Given the description of an element on the screen output the (x, y) to click on. 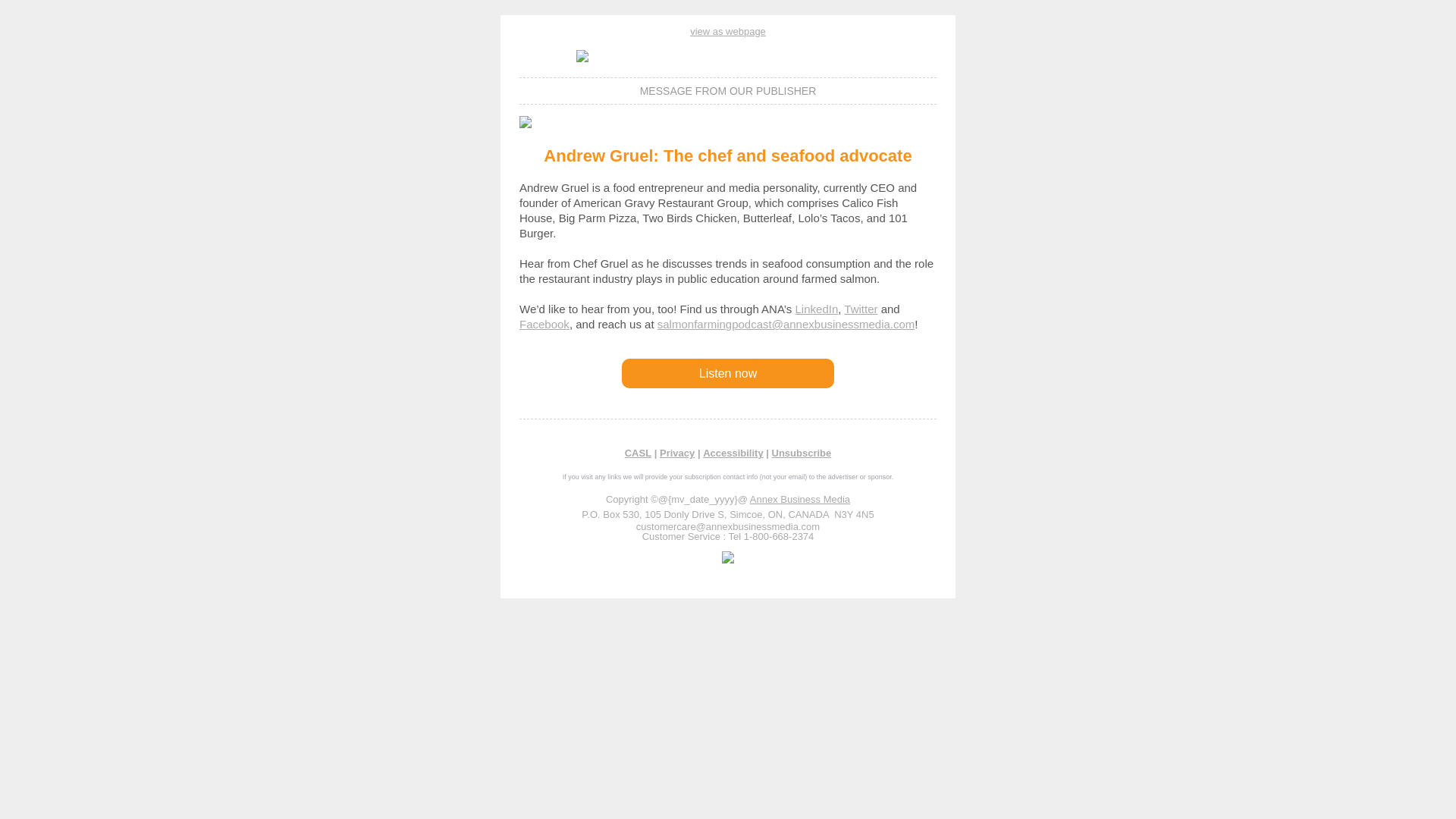
Andrew Gruel: The chef and seafood advocate (727, 155)
Twitter (860, 308)
view as webpage (727, 30)
Privacy (676, 452)
Annex Business Media (799, 499)
Unsubscribe (801, 452)
Accessibility (732, 452)
Facebook (544, 323)
CASL (637, 452)
LinkedIn (816, 308)
Listen now (728, 373)
